Given the description of an element on the screen output the (x, y) to click on. 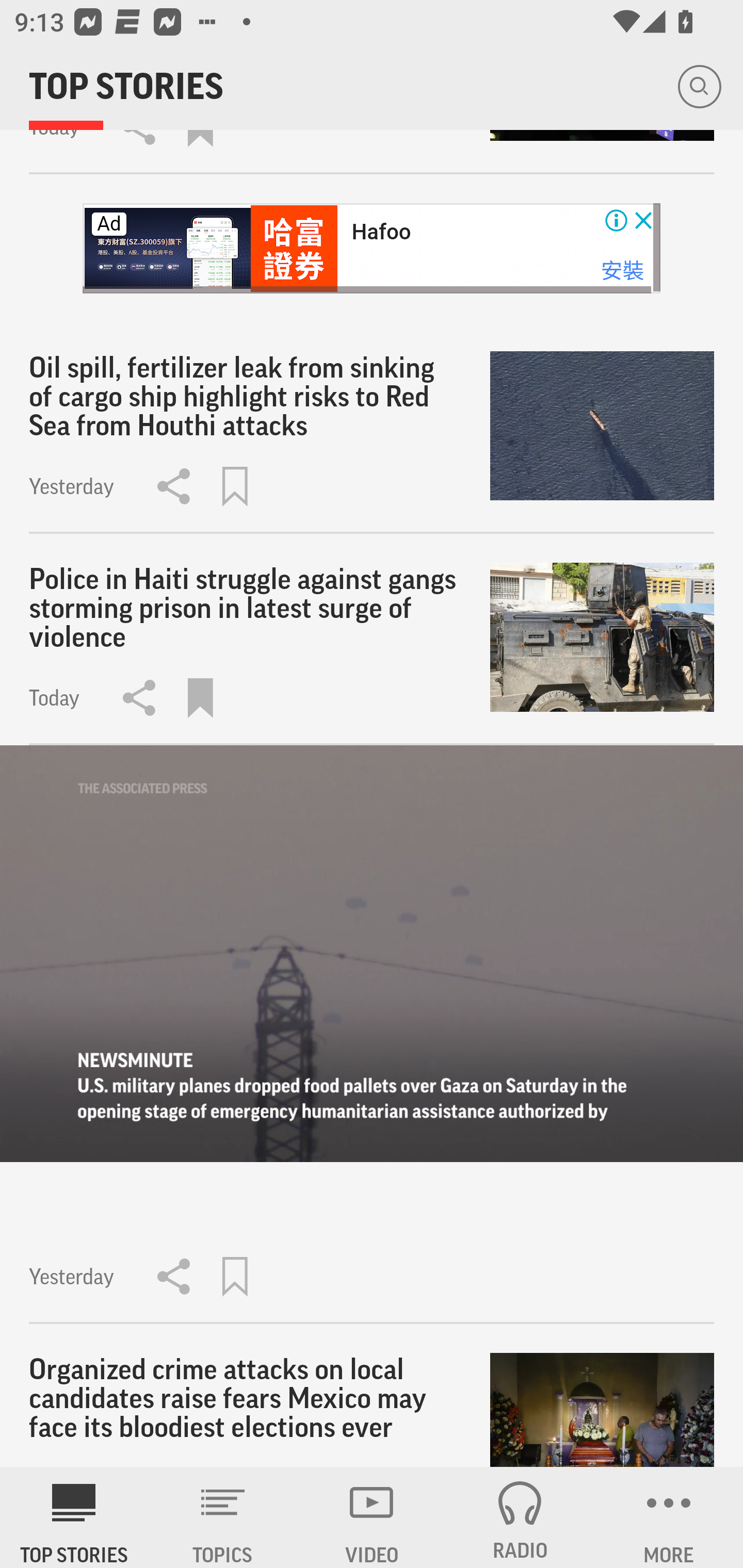
Hafoo (381, 231)
安裝 (621, 270)
toggle controls Yesterday (371, 1033)
toggle controls (371, 952)
AP News TOP STORIES (74, 1517)
TOPICS (222, 1517)
VIDEO (371, 1517)
RADIO (519, 1517)
MORE (668, 1517)
